Given the description of an element on the screen output the (x, y) to click on. 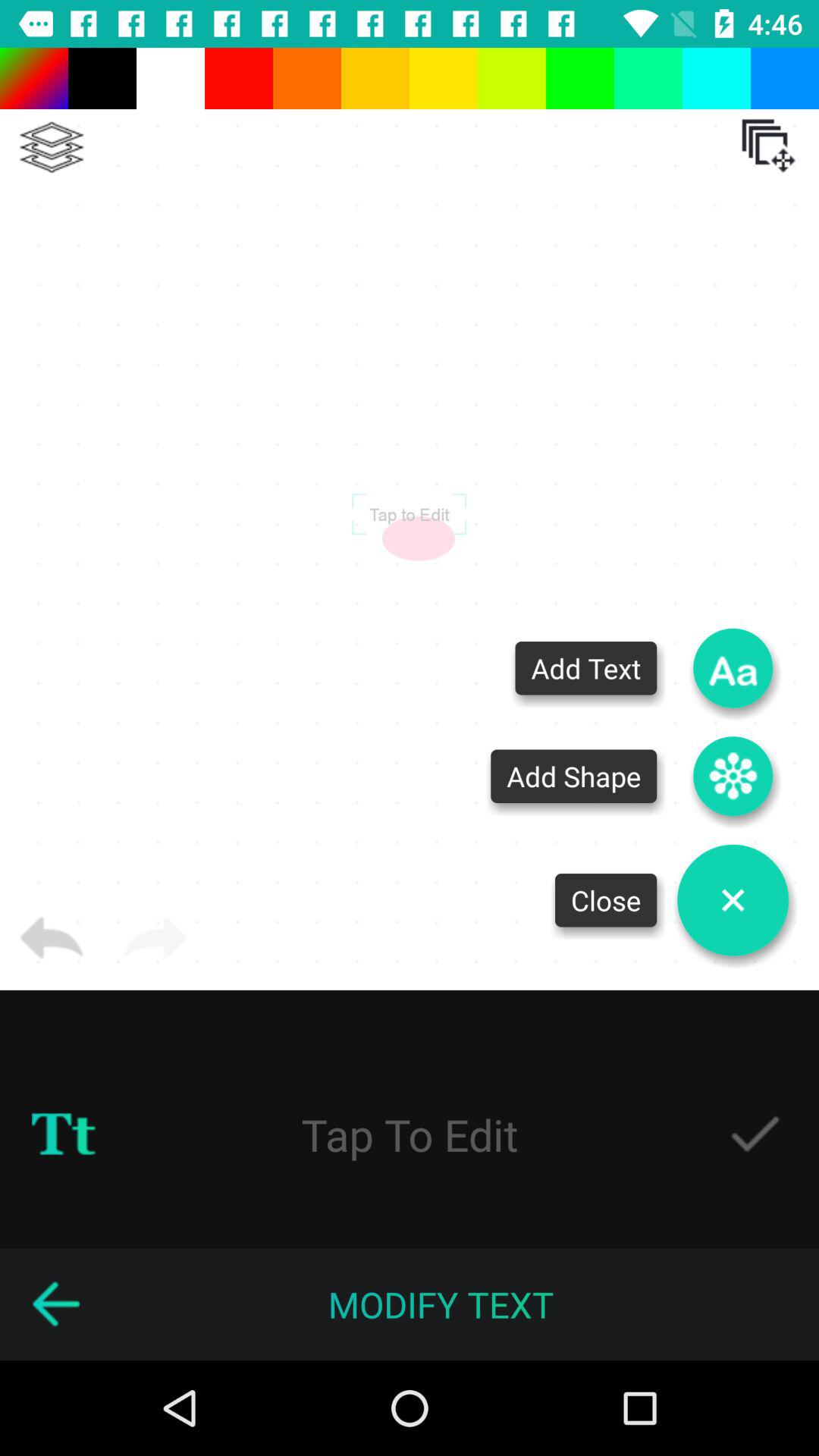
tap to edit (409, 1134)
